Given the description of an element on the screen output the (x, y) to click on. 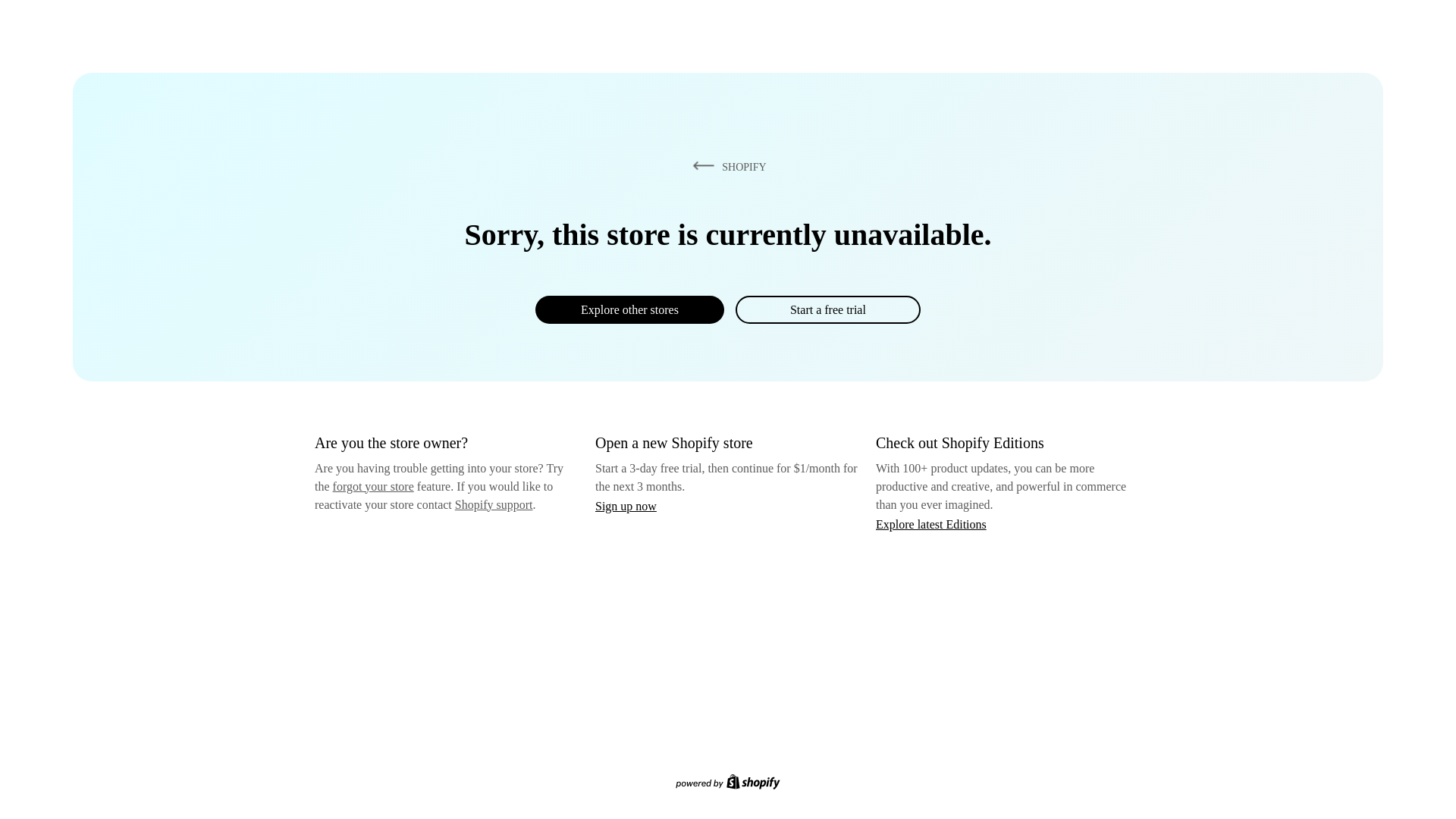
Shopify support (493, 504)
SHOPIFY (726, 166)
forgot your store (373, 486)
Sign up now (625, 505)
Explore other stores (629, 309)
Start a free trial (827, 309)
Explore latest Editions (931, 523)
